Given the description of an element on the screen output the (x, y) to click on. 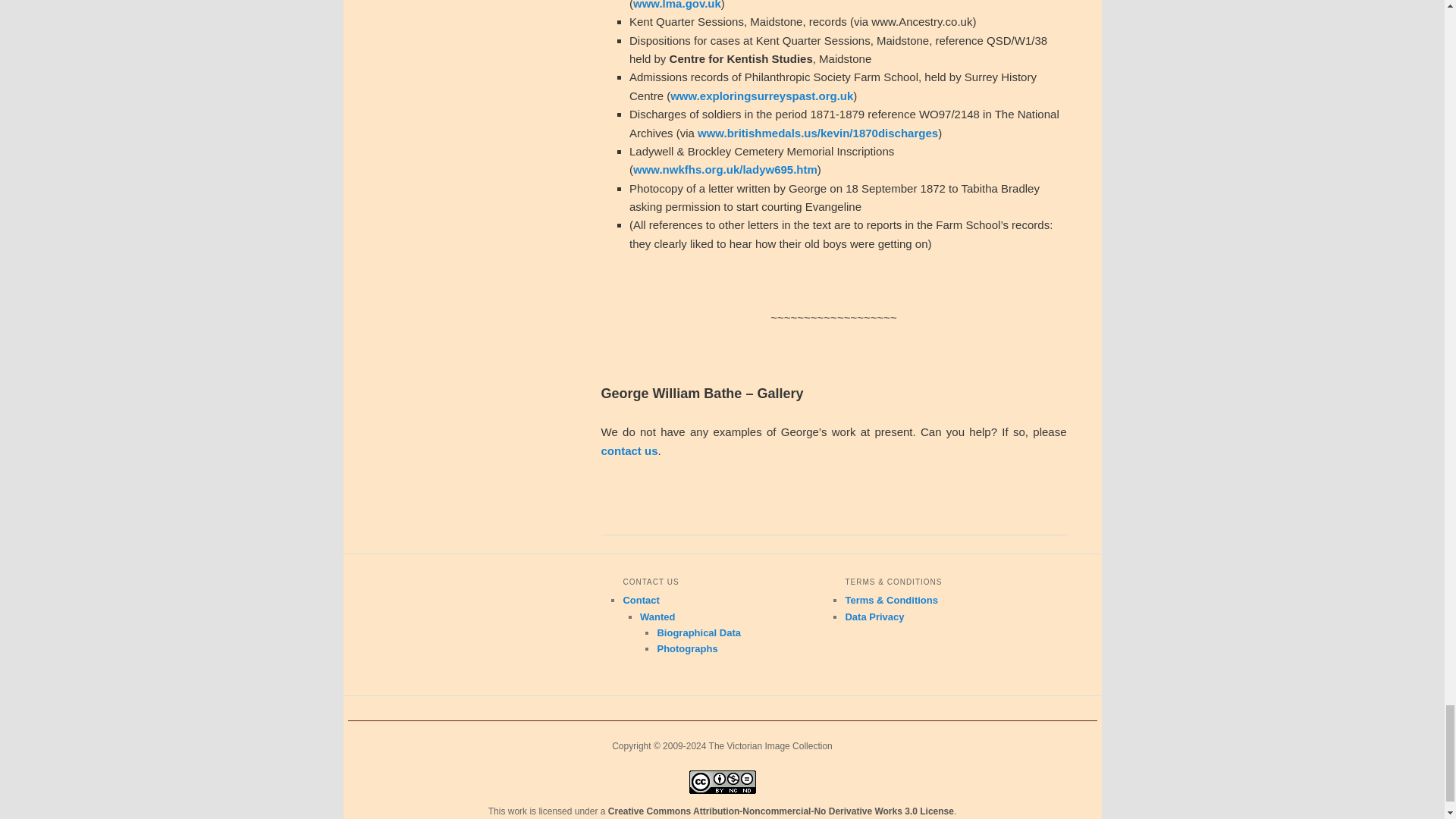
Link to British Medals website (817, 132)
Link to Surrey History Centre (761, 95)
Link to London Metropolitan Archives website (676, 4)
Link to Contact Us page (628, 450)
